Given the description of an element on the screen output the (x, y) to click on. 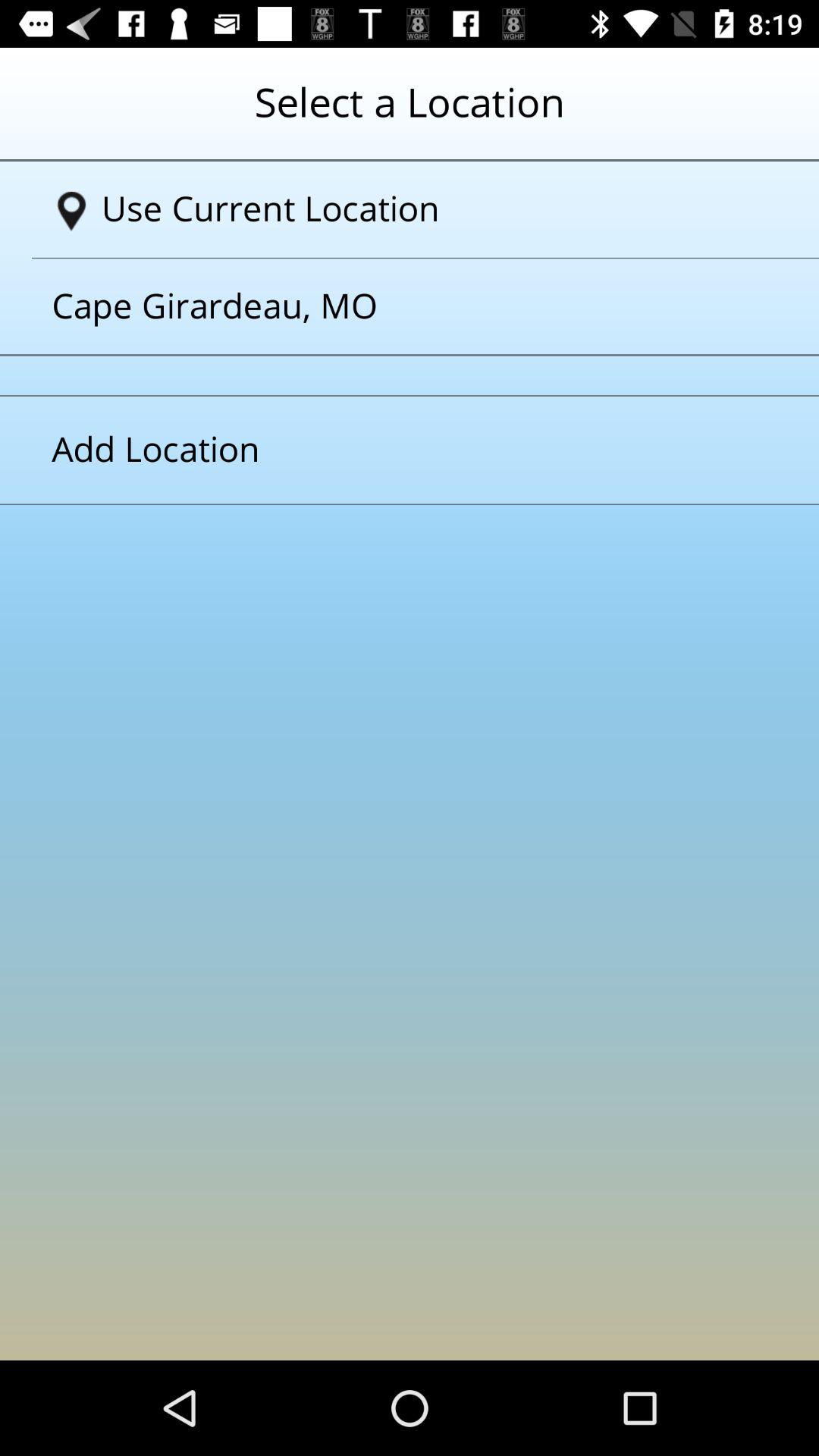
select the text which is at the top (409, 114)
select the option use current location on page (415, 209)
select the symbol which is to the left of use current location (71, 211)
